Given the description of an element on the screen output the (x, y) to click on. 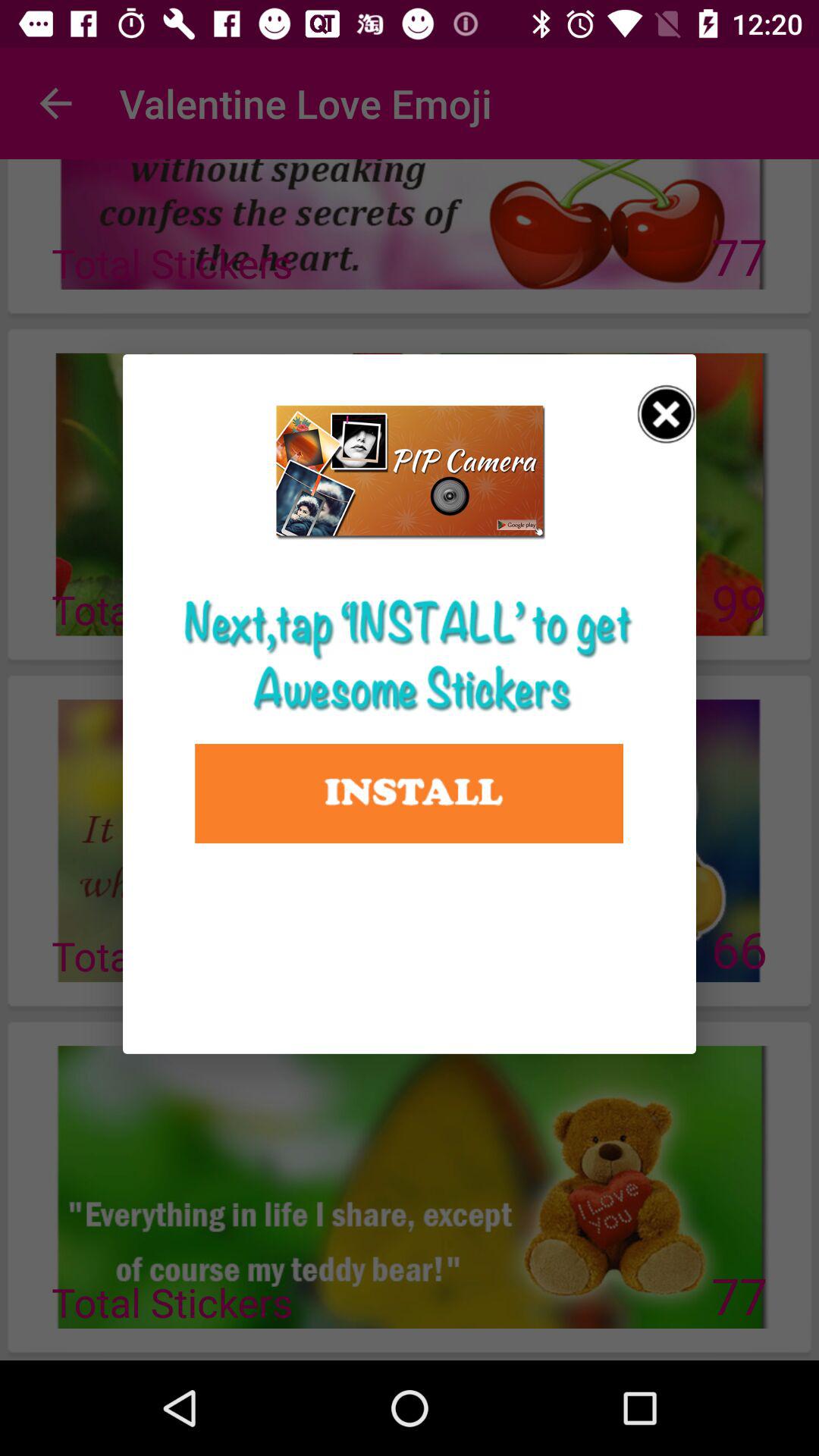
close this install popup (666, 414)
